Given the description of an element on the screen output the (x, y) to click on. 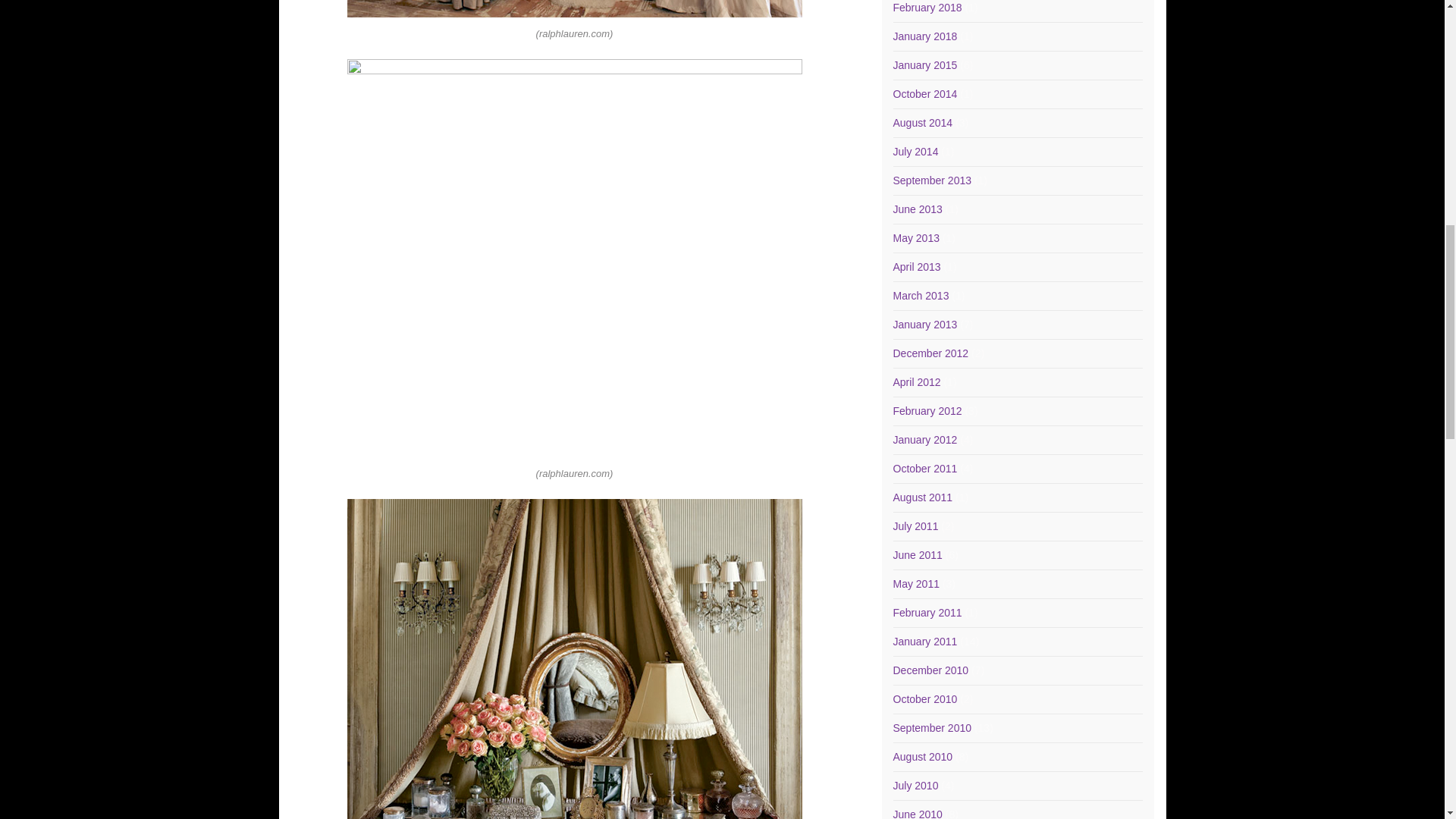
February 2018 (927, 7)
July 2014 (916, 151)
August 2014 (923, 122)
January 2018 (925, 36)
rlh (574, 8)
January 2015 (925, 64)
October 2014 (925, 93)
